Given the description of an element on the screen output the (x, y) to click on. 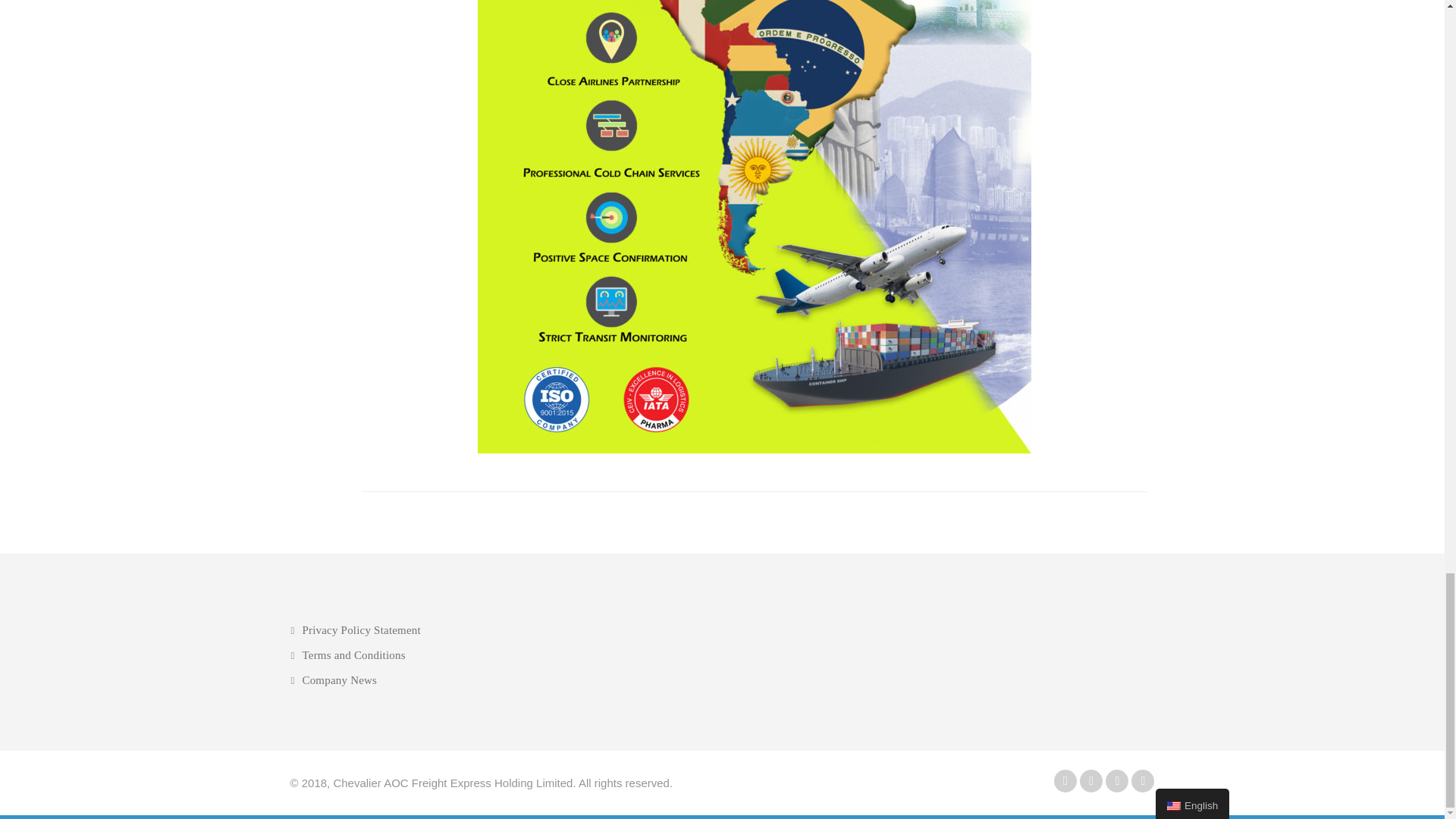
Privacy Policy Statement (354, 630)
Company News (333, 680)
Terms and Conditions (346, 654)
